Given the description of an element on the screen output the (x, y) to click on. 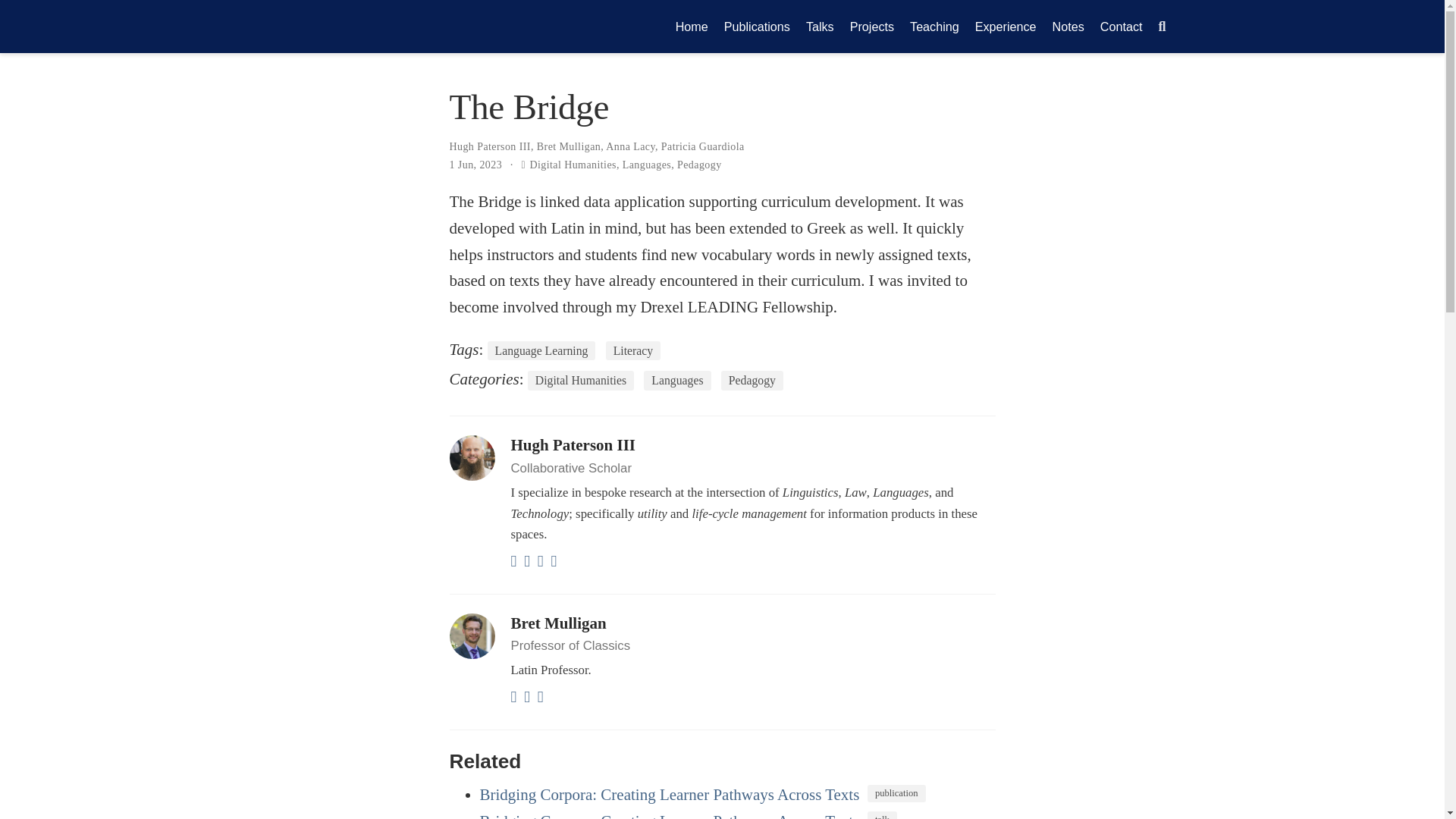
Digital Humanities (572, 164)
Hugh Paterson III (573, 444)
Pedagogy (699, 164)
Language Learning (541, 351)
Pedagogy (751, 380)
Languages (647, 164)
Bridging Corpora: Creating Learner Pathways Across Texts (669, 815)
Languages (676, 380)
Experience (1004, 25)
Bridging Corpora: Creating Learner Pathways Across Texts (669, 794)
Home (691, 25)
Publications (756, 25)
Bret Mulligan (568, 146)
Notes (1067, 25)
Contact (1121, 25)
